Given the description of an element on the screen output the (x, y) to click on. 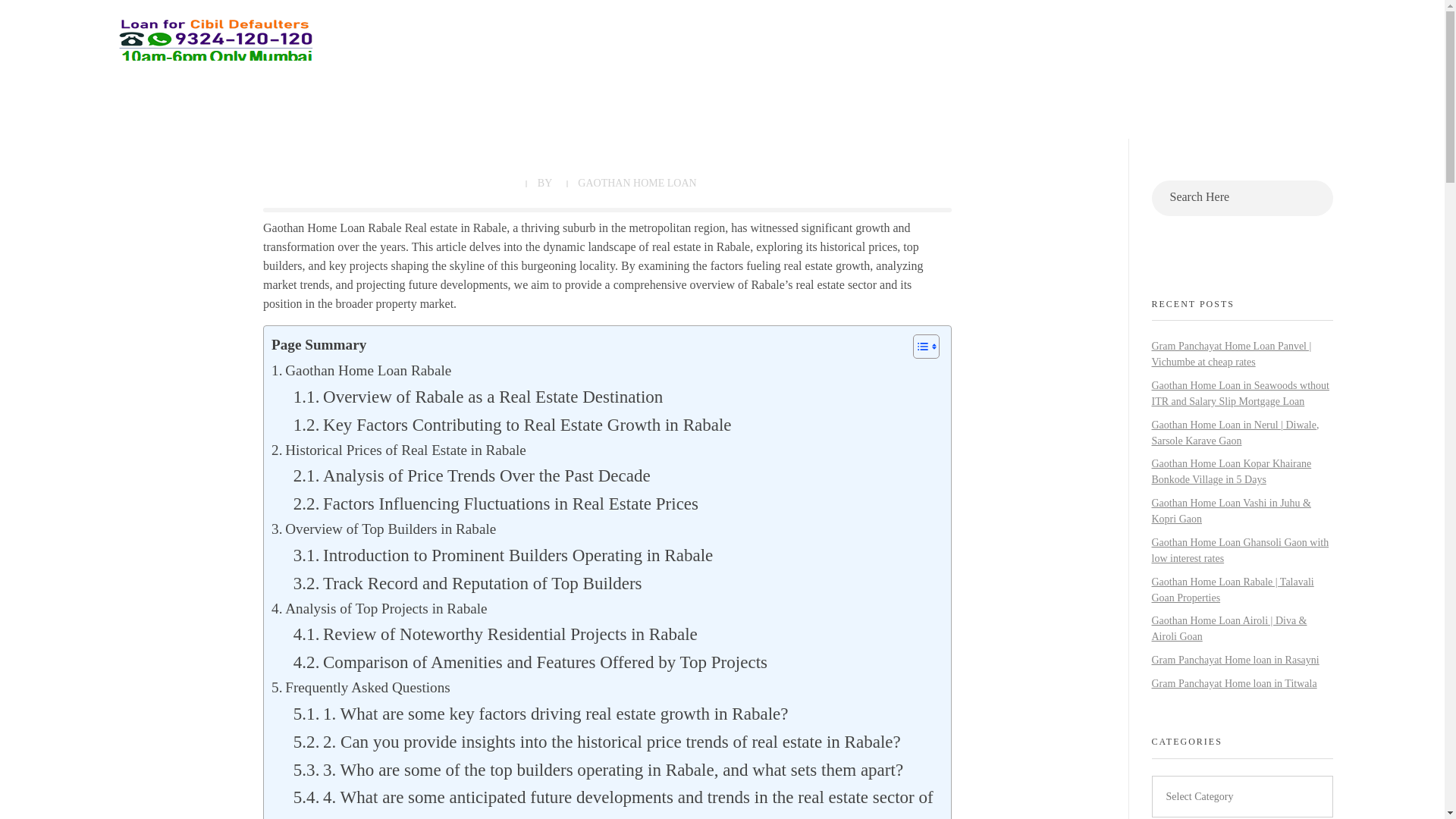
Comparison of Amenities and Features Offered by Top Projects (530, 662)
Overview of Top Builders in Rabale (383, 529)
Review of Noteworthy Residential Projects in Rabale (495, 633)
Track Record and Reputation of Top Builders (468, 583)
Gaothan Home Loan Rabale (360, 371)
Key Factors Contributing to Real Estate Growth in Rabale (513, 424)
Introduction to Prominent Builders Operating in Rabale (503, 555)
Analysis of Top Projects in Rabale (378, 608)
Overview of Rabale as a Real Estate Destination (478, 397)
Factors Influencing Fluctuations in Real Estate Prices (496, 503)
